Given the description of an element on the screen output the (x, y) to click on. 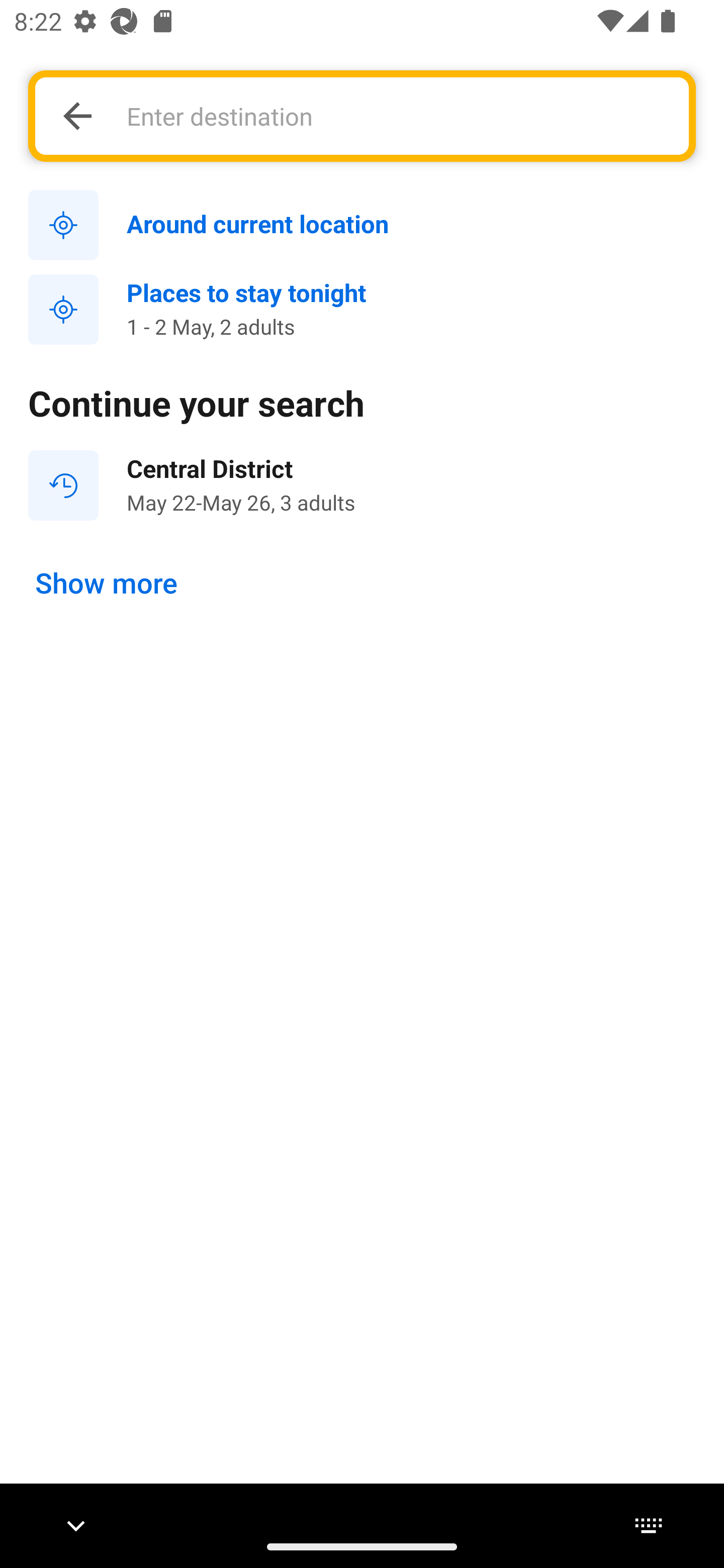
Enter destination (396, 115)
Around current location (362, 225)
Places to stay tonight 1 - 2 May, 2 adults (362, 309)
Central District May 22-May 26, 3 adults  (362, 485)
Show more (106, 583)
